Given the description of an element on the screen output the (x, y) to click on. 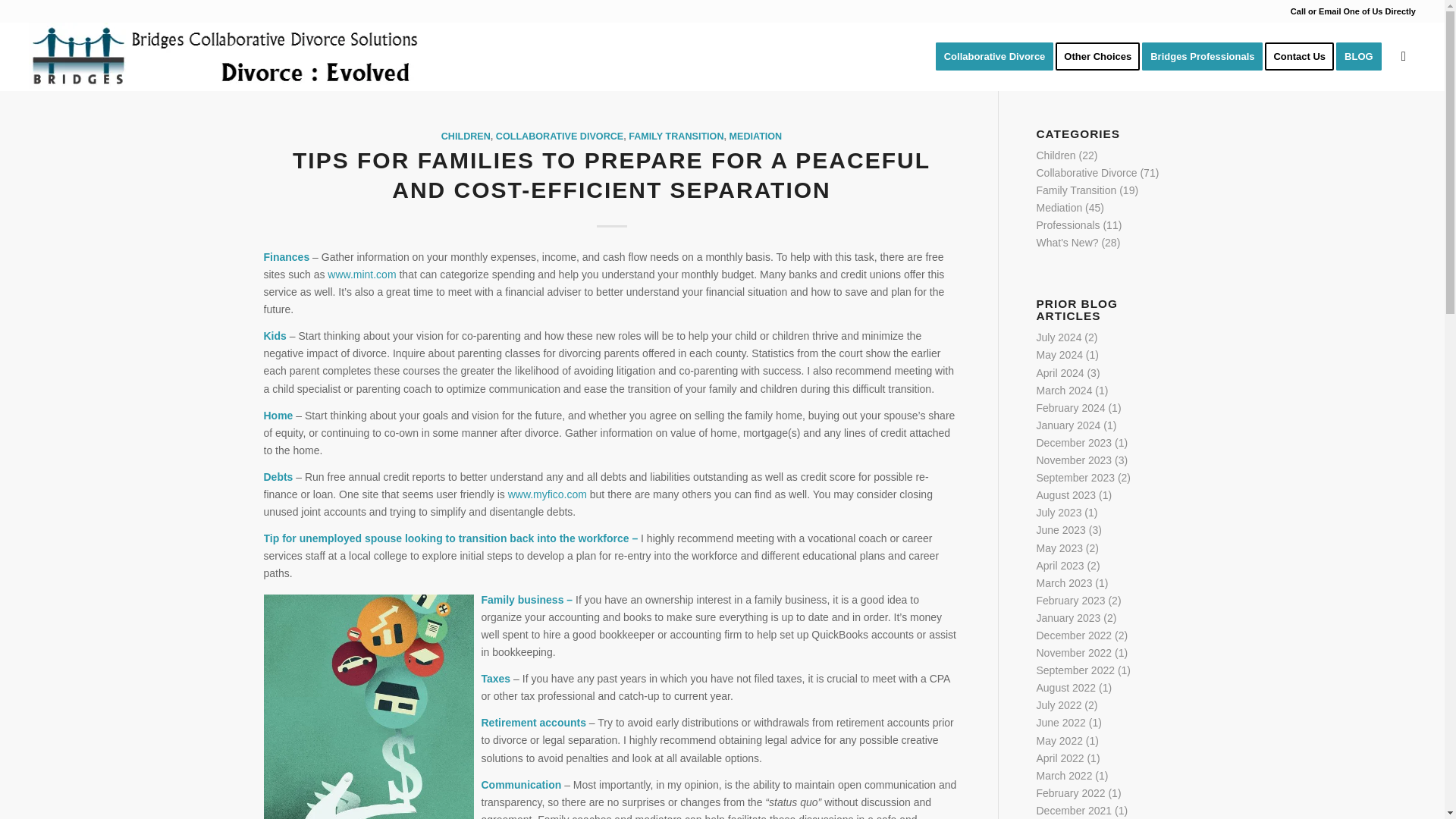
Contact Us (1304, 56)
Collaborative Divorce (995, 56)
Bridges Professionals (1206, 56)
BCDS DE Logo (224, 56)
Other Choices (1102, 56)
COLLABORATIVE DIVORCE (559, 136)
CHILDREN (465, 136)
BCDS DE Logo (224, 55)
Call or Email One of Us Directly (1352, 10)
